Given the description of an element on the screen output the (x, y) to click on. 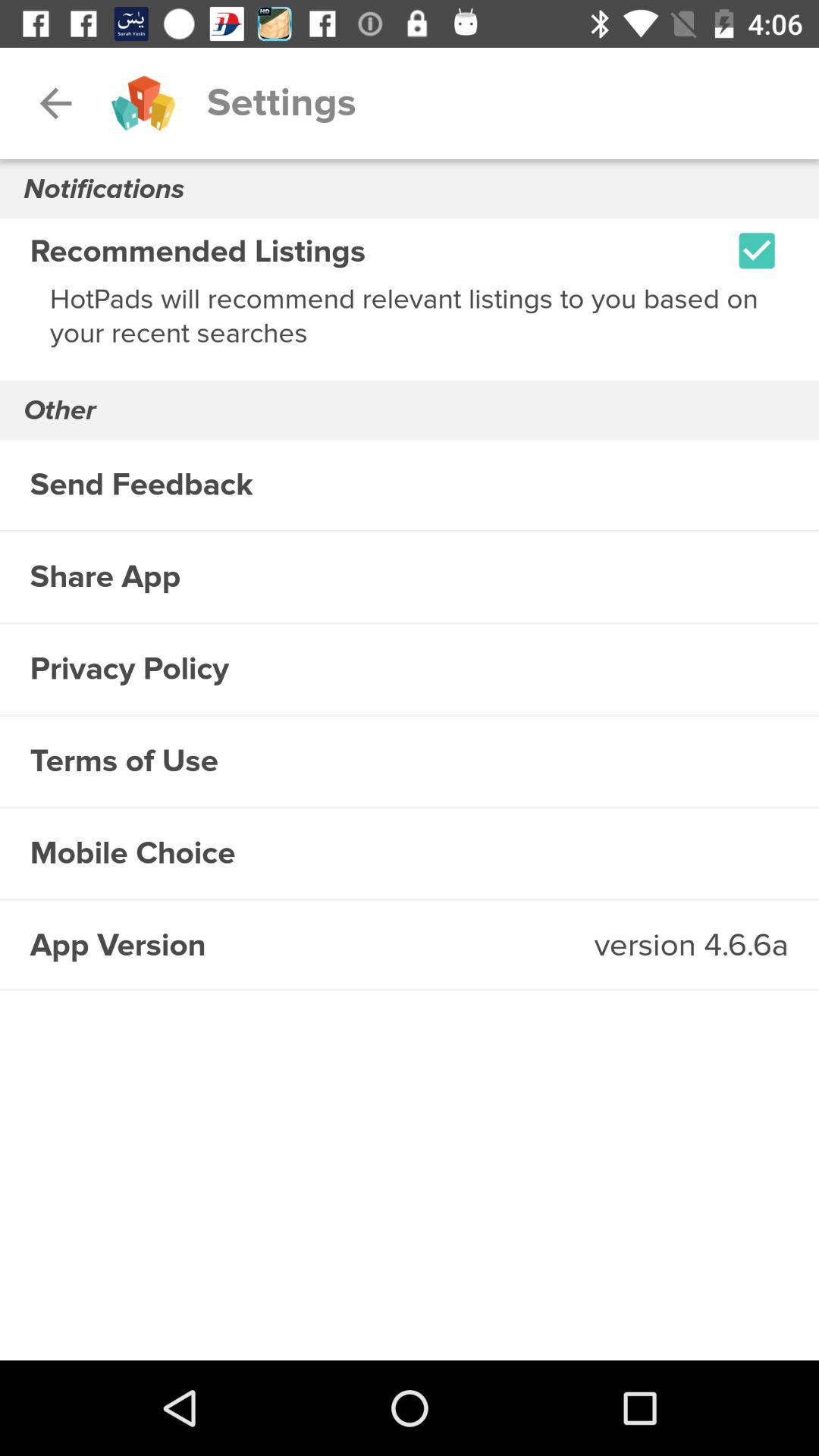
turn on icon next to the recommended listings icon (756, 250)
